Given the description of an element on the screen output the (x, y) to click on. 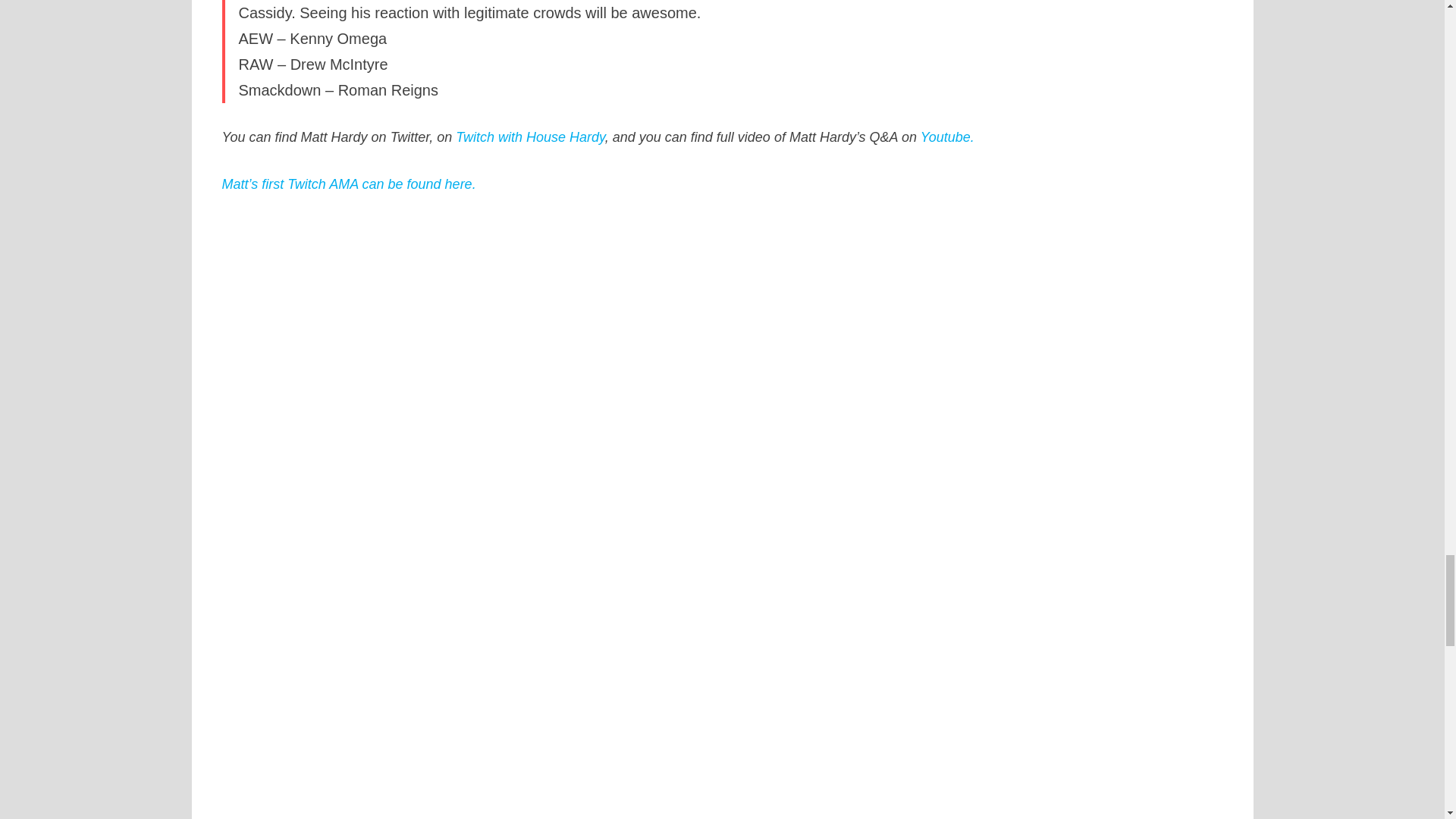
Youtube. (947, 136)
Twitch with House Hardy (529, 136)
